Given the description of an element on the screen output the (x, y) to click on. 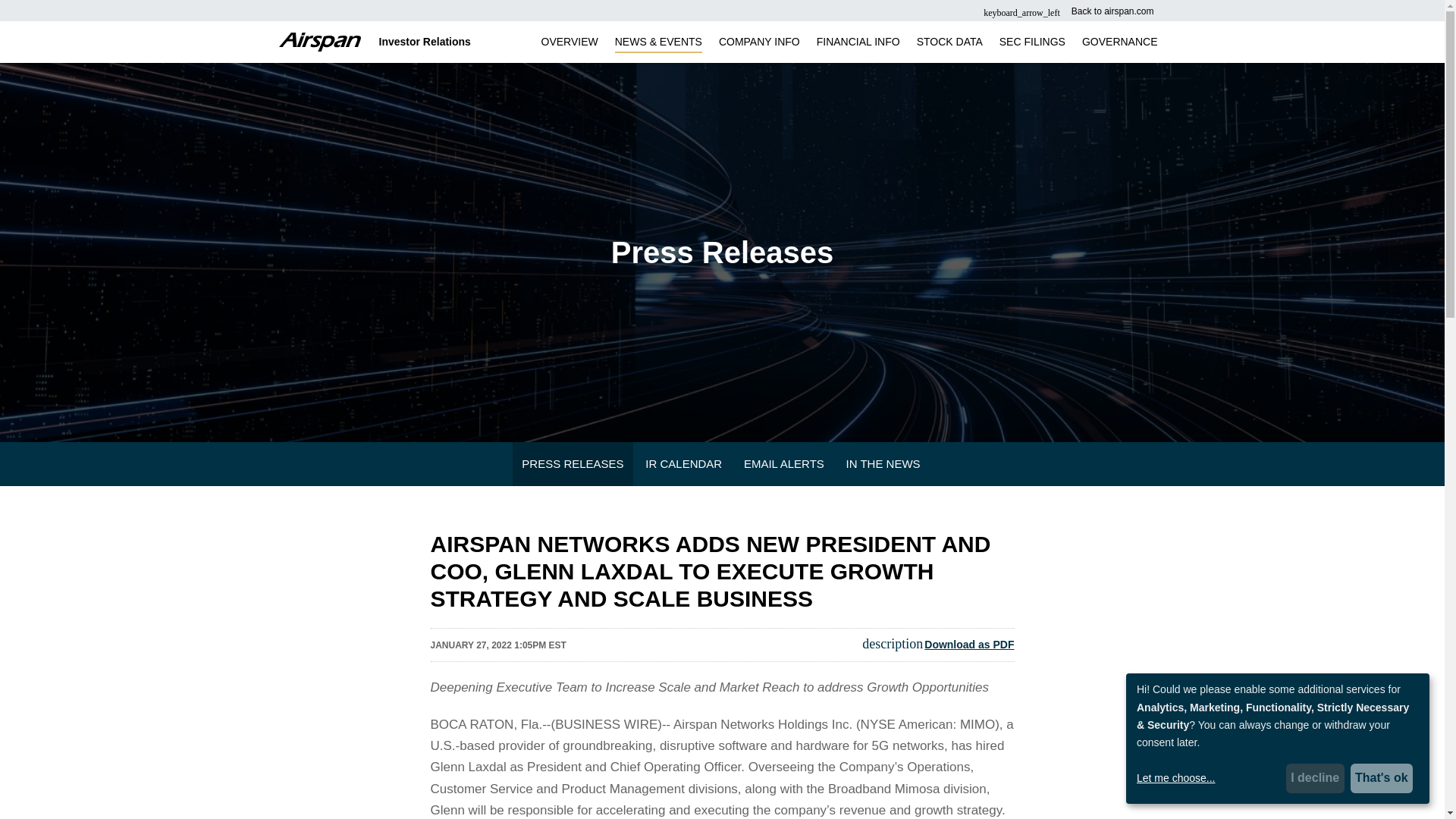
Opens in a new window (1068, 10)
Back to airspan.com (1068, 10)
IR CALENDAR (683, 464)
STOCK DATA (949, 47)
FINANCIAL INFO (858, 47)
PRESS RELEASES (571, 464)
OVERVIEW (569, 47)
COMPANY INFO (759, 47)
GOVERNANCE (1120, 47)
